Given the description of an element on the screen output the (x, y) to click on. 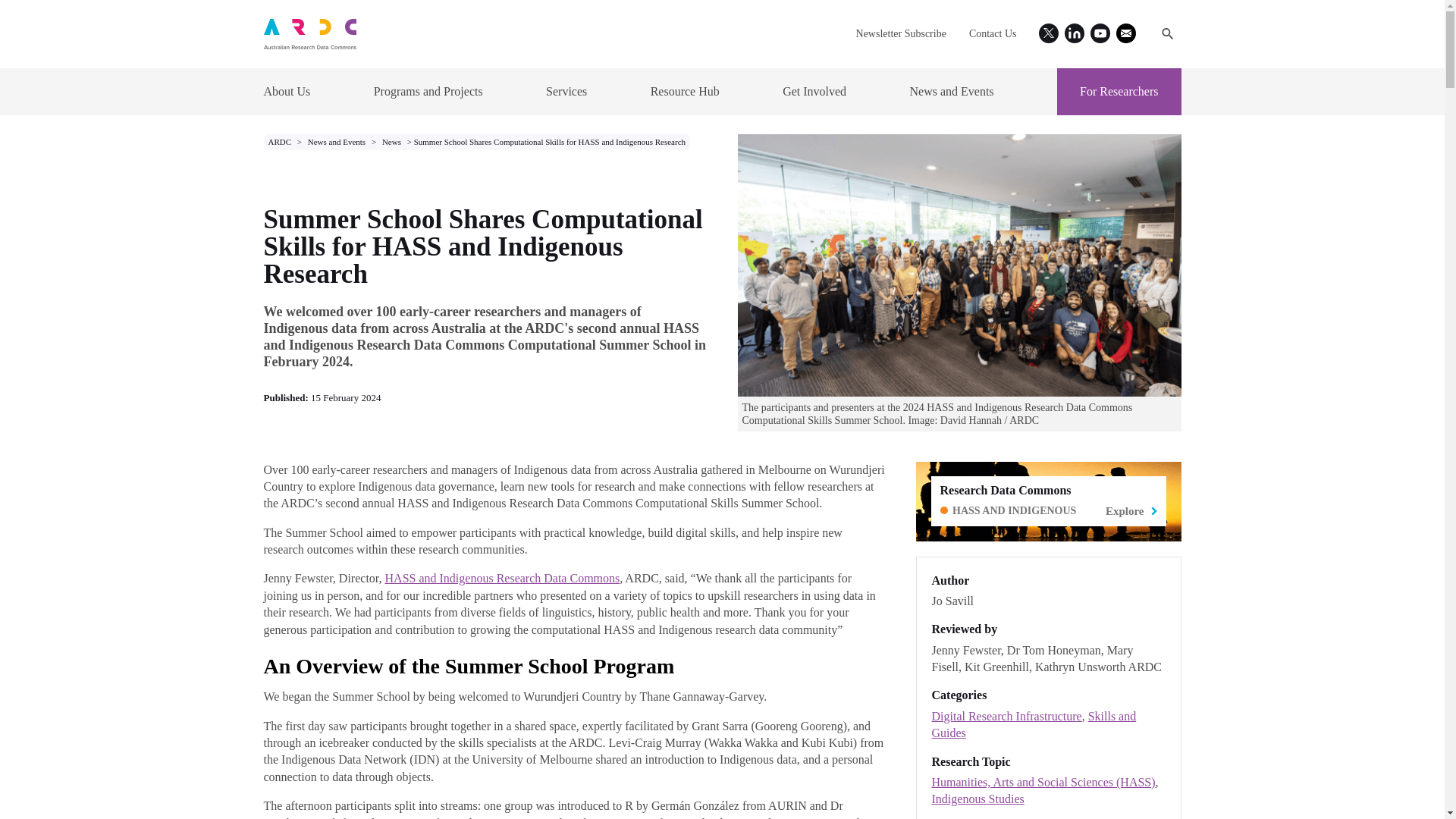
Contact Us (992, 33)
Go to News. (391, 141)
About Us (287, 91)
Newsletter Subscribe (901, 33)
Go to News and Events. (336, 141)
Programs and Projects (428, 91)
Go to ARDC. (281, 141)
